Given the description of an element on the screen output the (x, y) to click on. 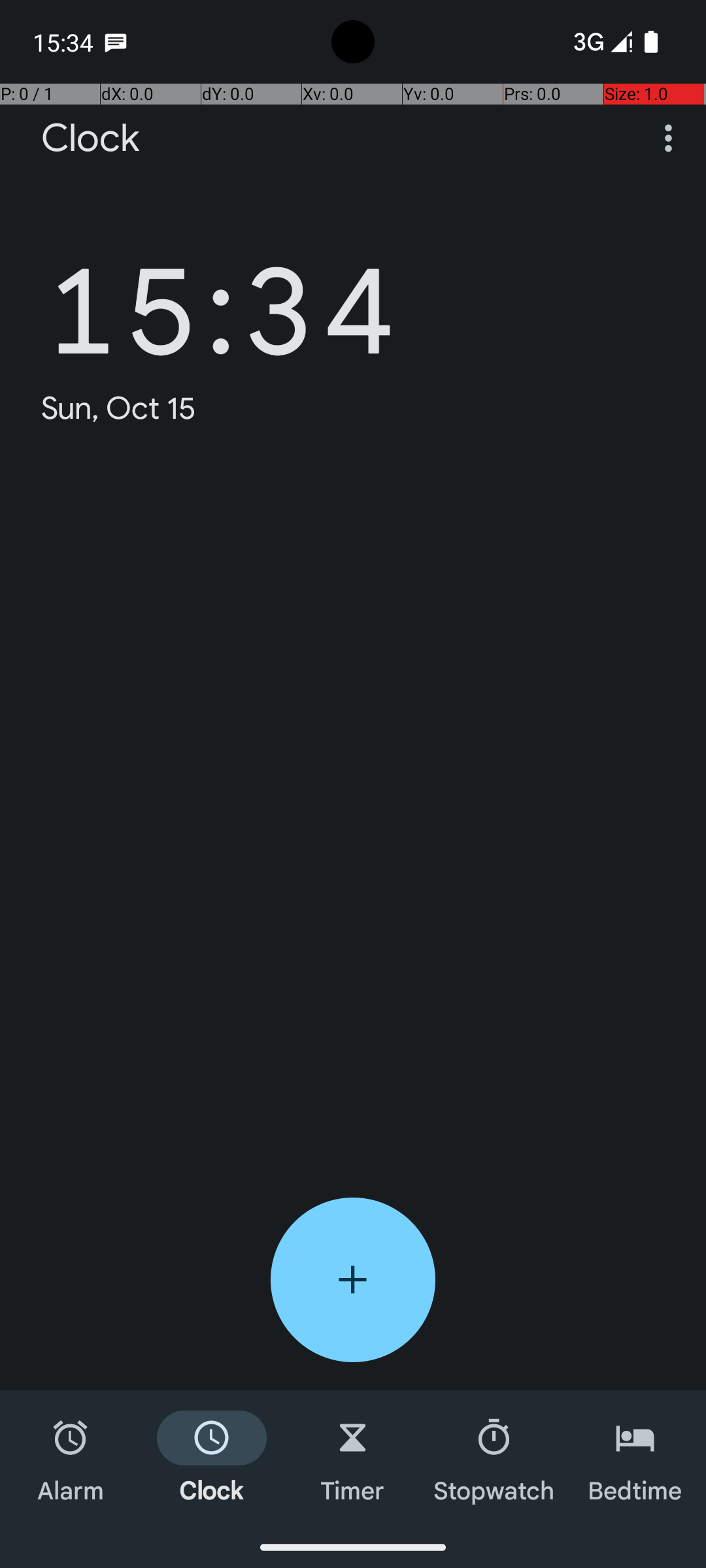
Add city Element type: android.widget.Button (352, 1279)
